Given the description of an element on the screen output the (x, y) to click on. 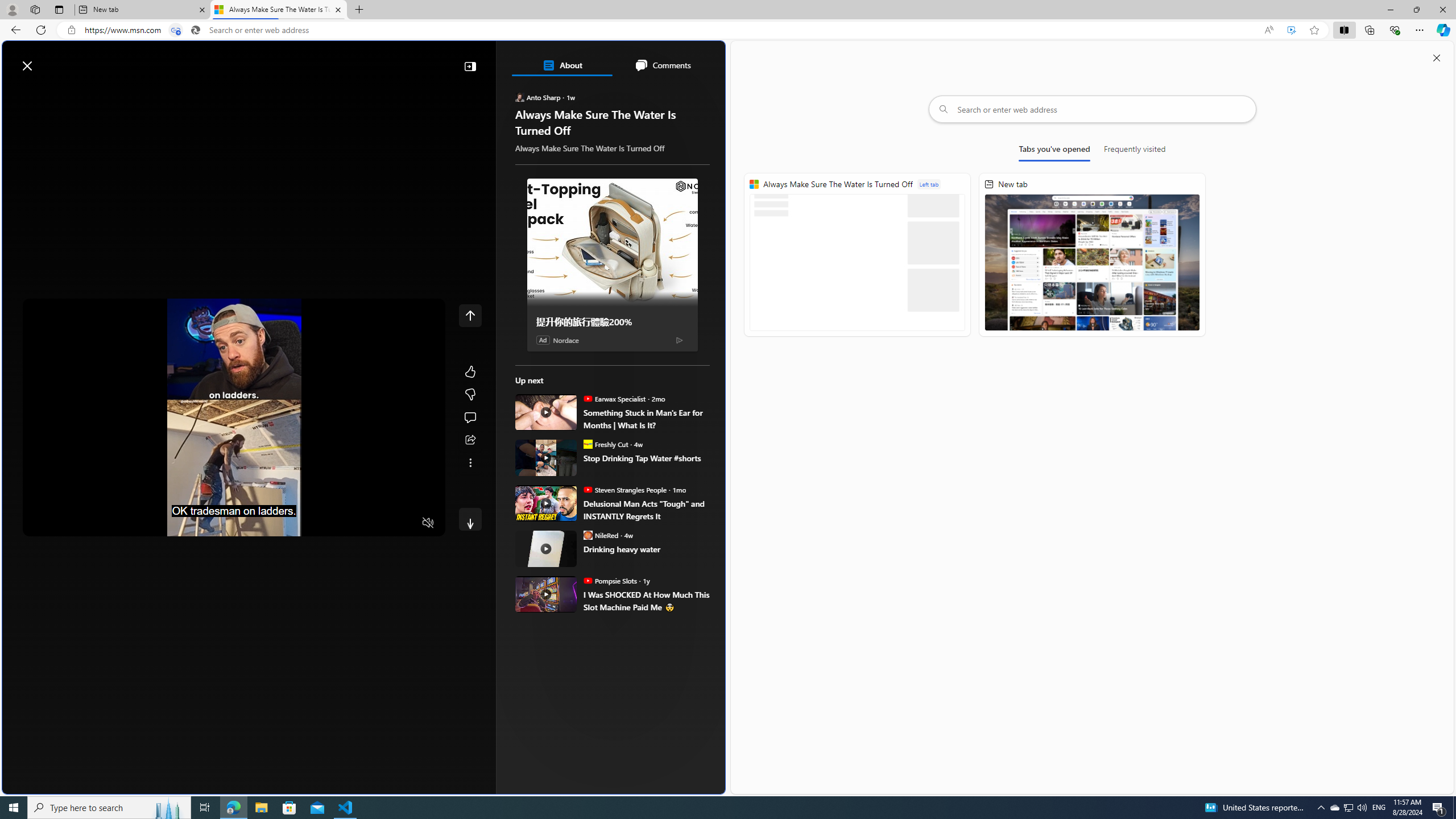
Read aloud this page (Ctrl+Shift+U) (1268, 29)
NileRed (587, 534)
More like thisFewer like thisStart the conversation (469, 394)
Nordace (566, 339)
Steven Strangles People Steven Strangles People (624, 488)
Progress Bar (234, 508)
Personalize (679, 92)
Comments (662, 64)
New Tab (358, 9)
Search or enter web address (1092, 108)
Dislike (469, 394)
Collapse (469, 65)
Forge of Empires (582, 601)
